Given the description of an element on the screen output the (x, y) to click on. 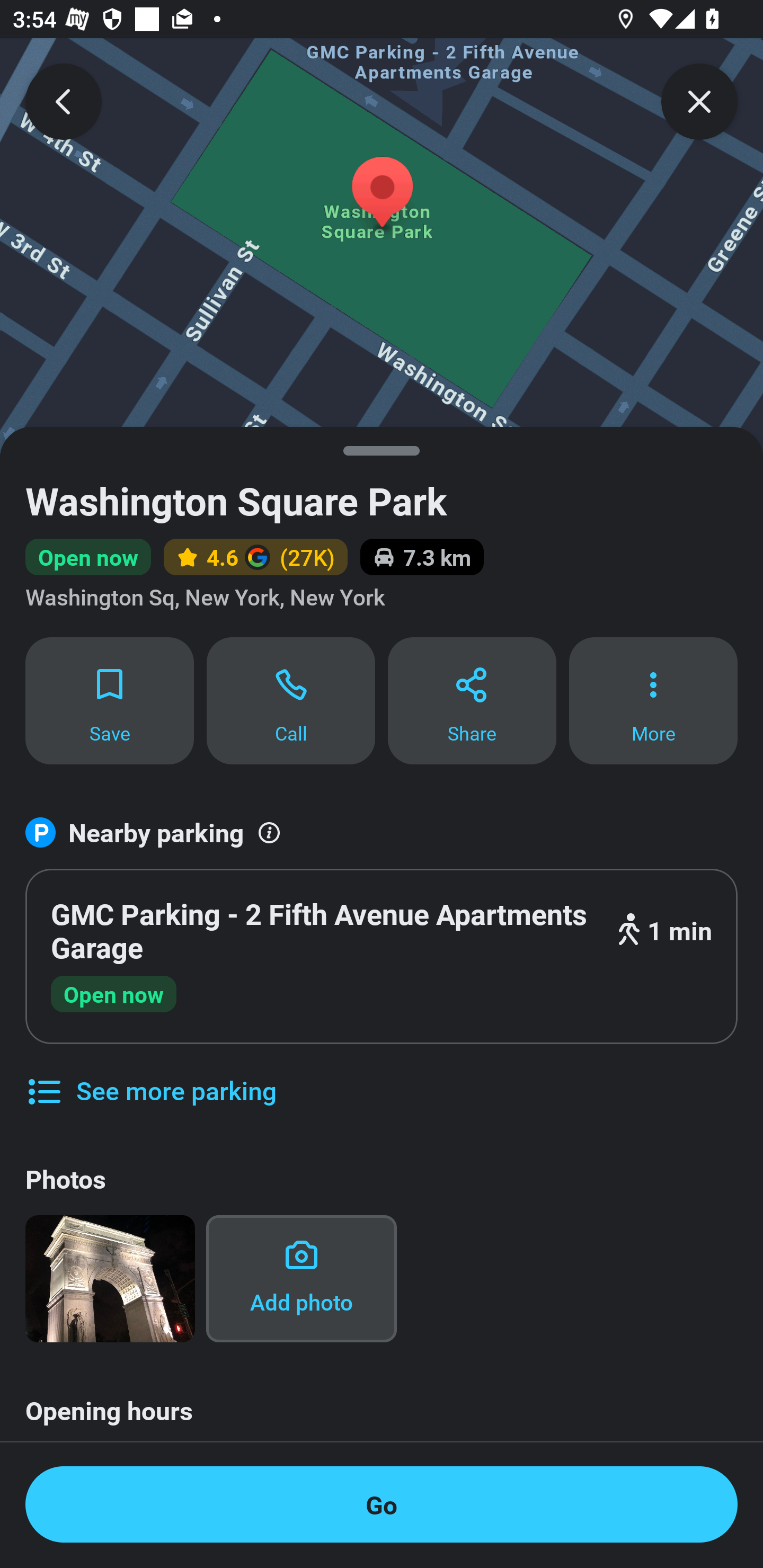
Save (109, 700)
Call (290, 700)
Share (471, 700)
More (653, 700)
See more parking (150, 1076)
Add photo (301, 1278)
Go (381, 1504)
